Given the description of an element on the screen output the (x, y) to click on. 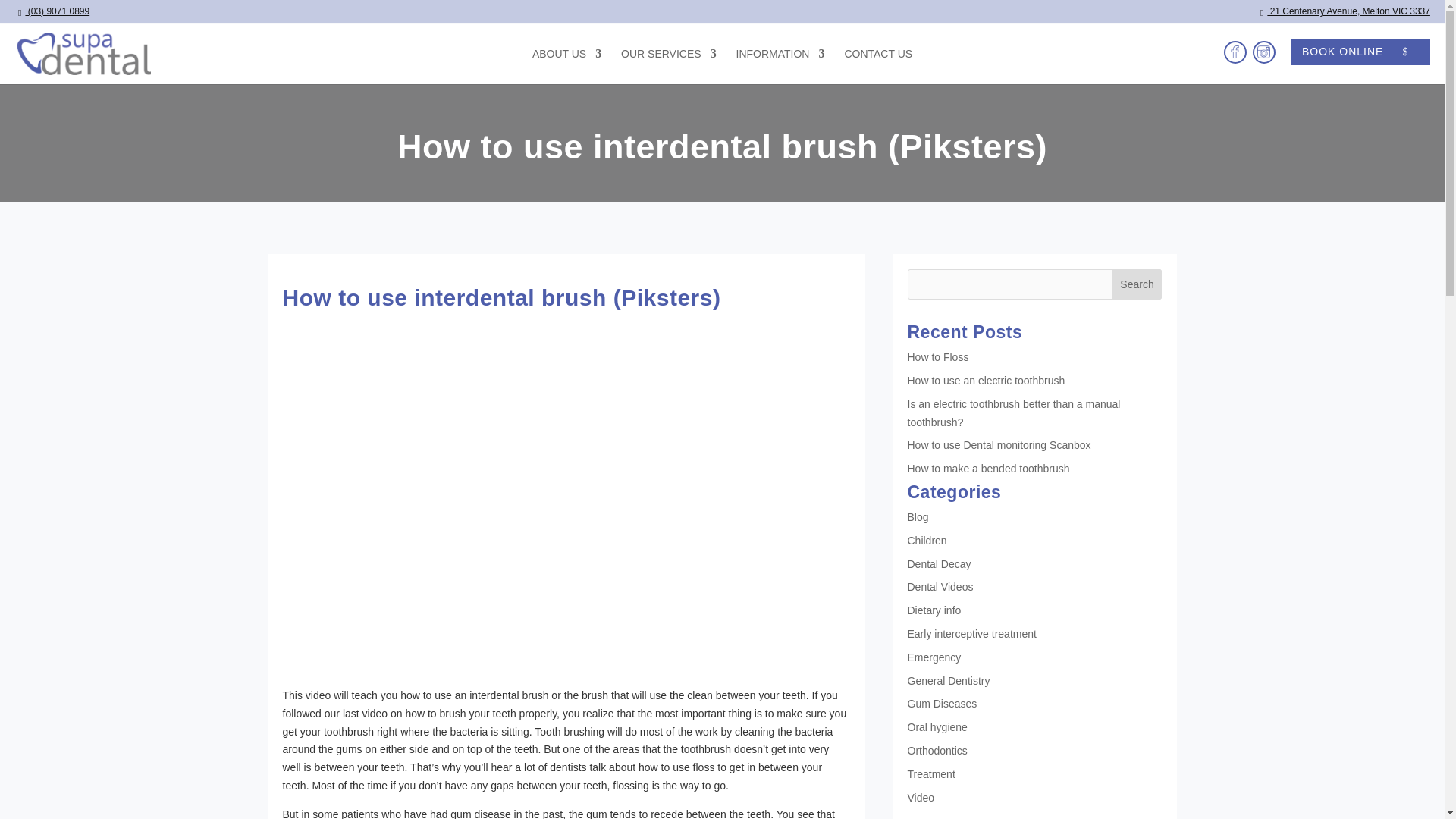
ABOUT US (566, 66)
INFORMATION (780, 66)
OUR SERVICES (668, 66)
